Given the description of an element on the screen output the (x, y) to click on. 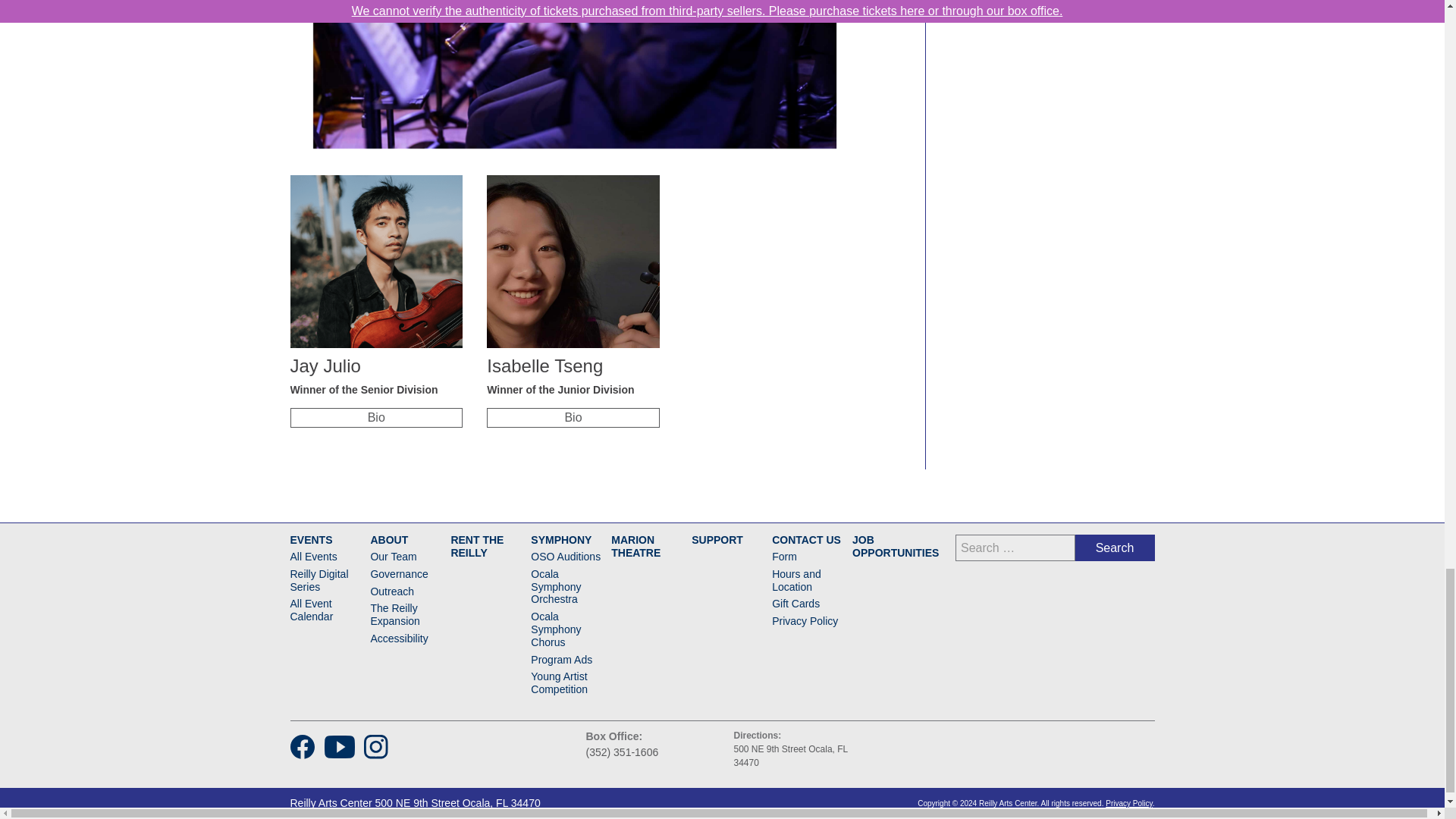
Bio (572, 417)
Youthful Renderings (574, 74)
Search (1114, 547)
Bio (375, 417)
Search (1114, 547)
